Given the description of an element on the screen output the (x, y) to click on. 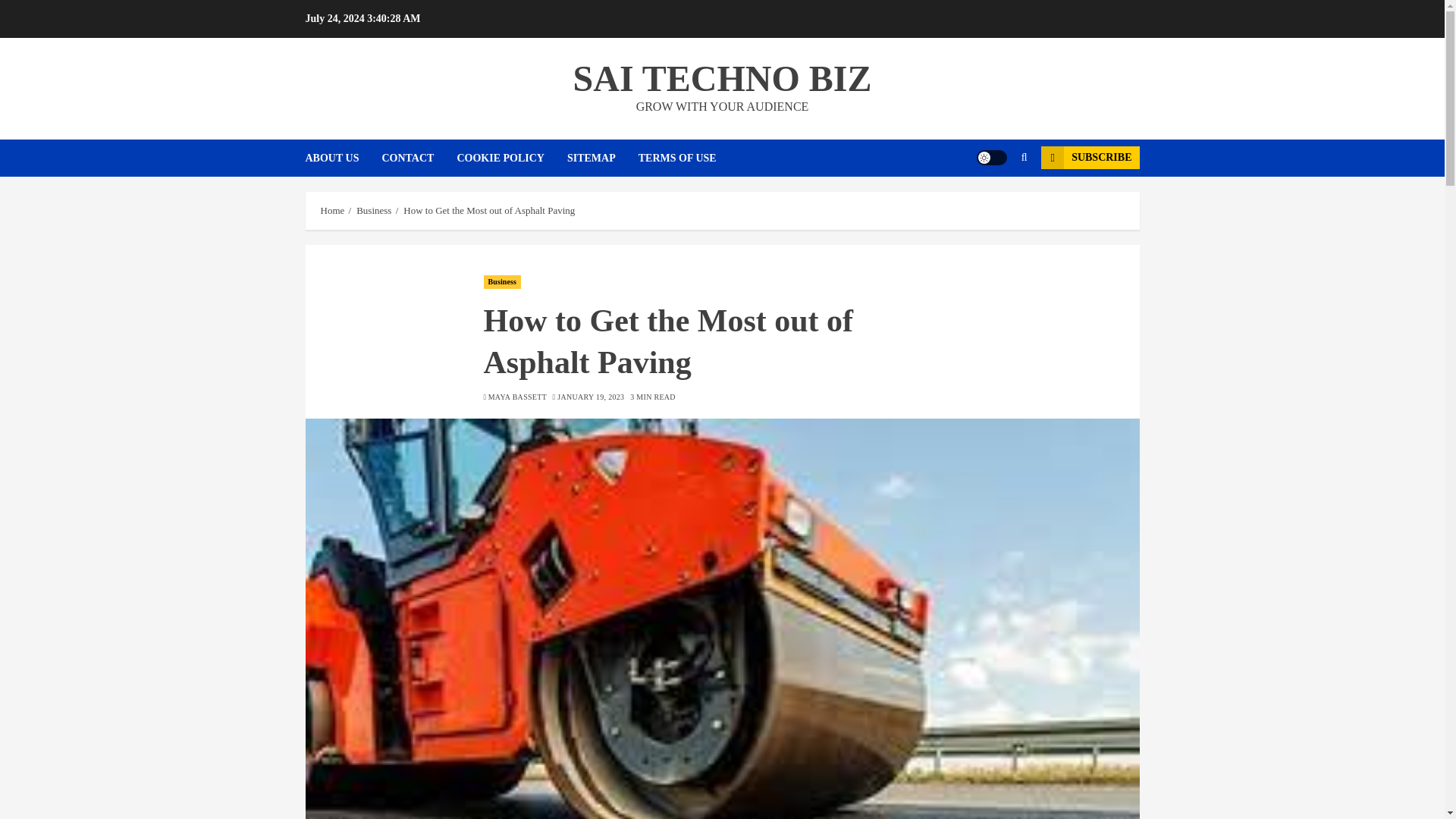
How to Get the Most out of Asphalt Paving (489, 210)
COOKIE POLICY (512, 157)
SAI TECHNO BIZ (722, 78)
Home (331, 210)
MAYA BASSETT (517, 397)
Search (994, 203)
Business (502, 282)
Business (373, 210)
CONTACT (419, 157)
TERMS OF USE (677, 157)
ABOUT US (342, 157)
SITEMAP (603, 157)
SUBSCRIBE (1089, 157)
JANUARY 19, 2023 (590, 397)
